Given the description of an element on the screen output the (x, y) to click on. 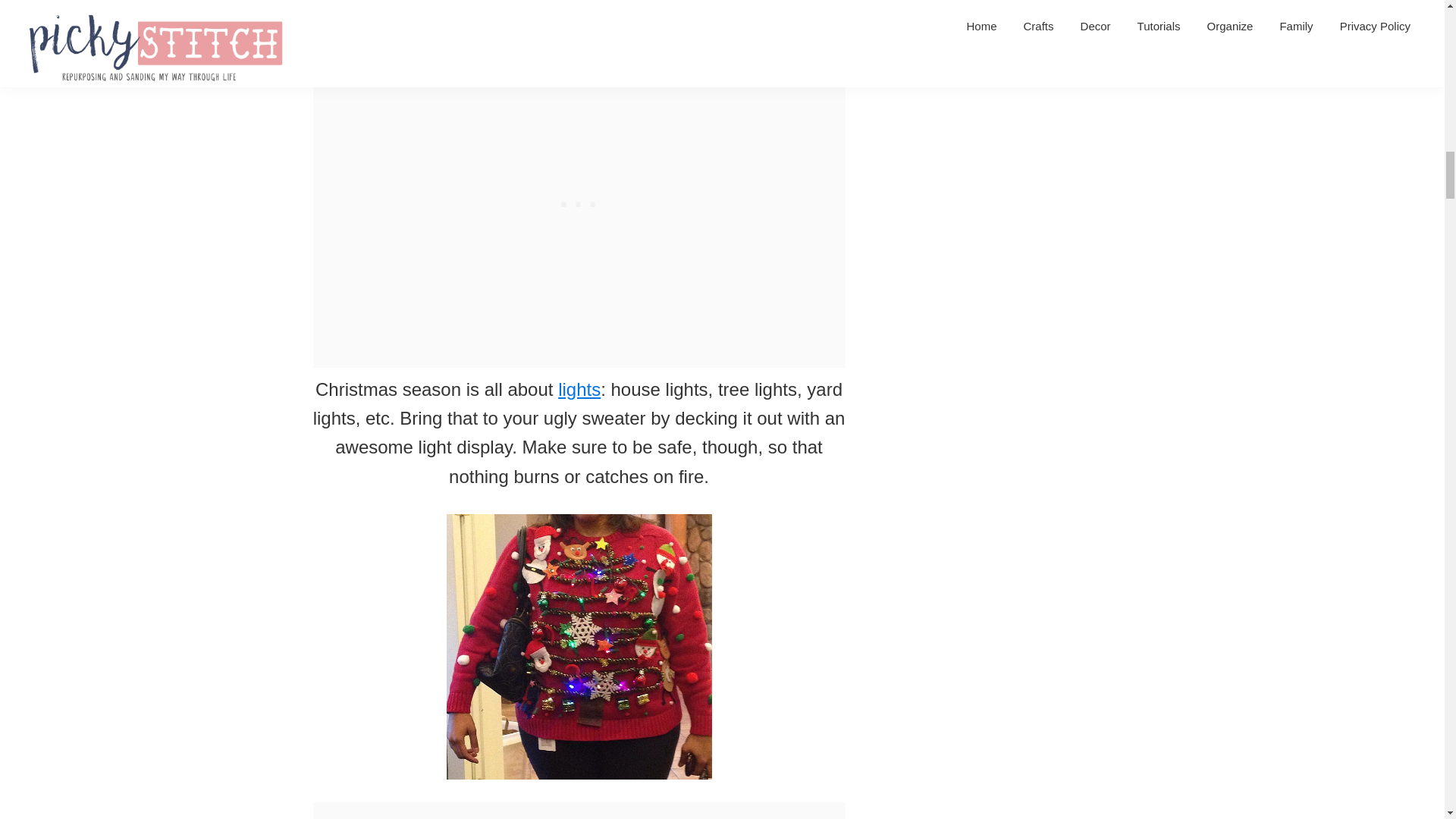
lights (578, 389)
